Given the description of an element on the screen output the (x, y) to click on. 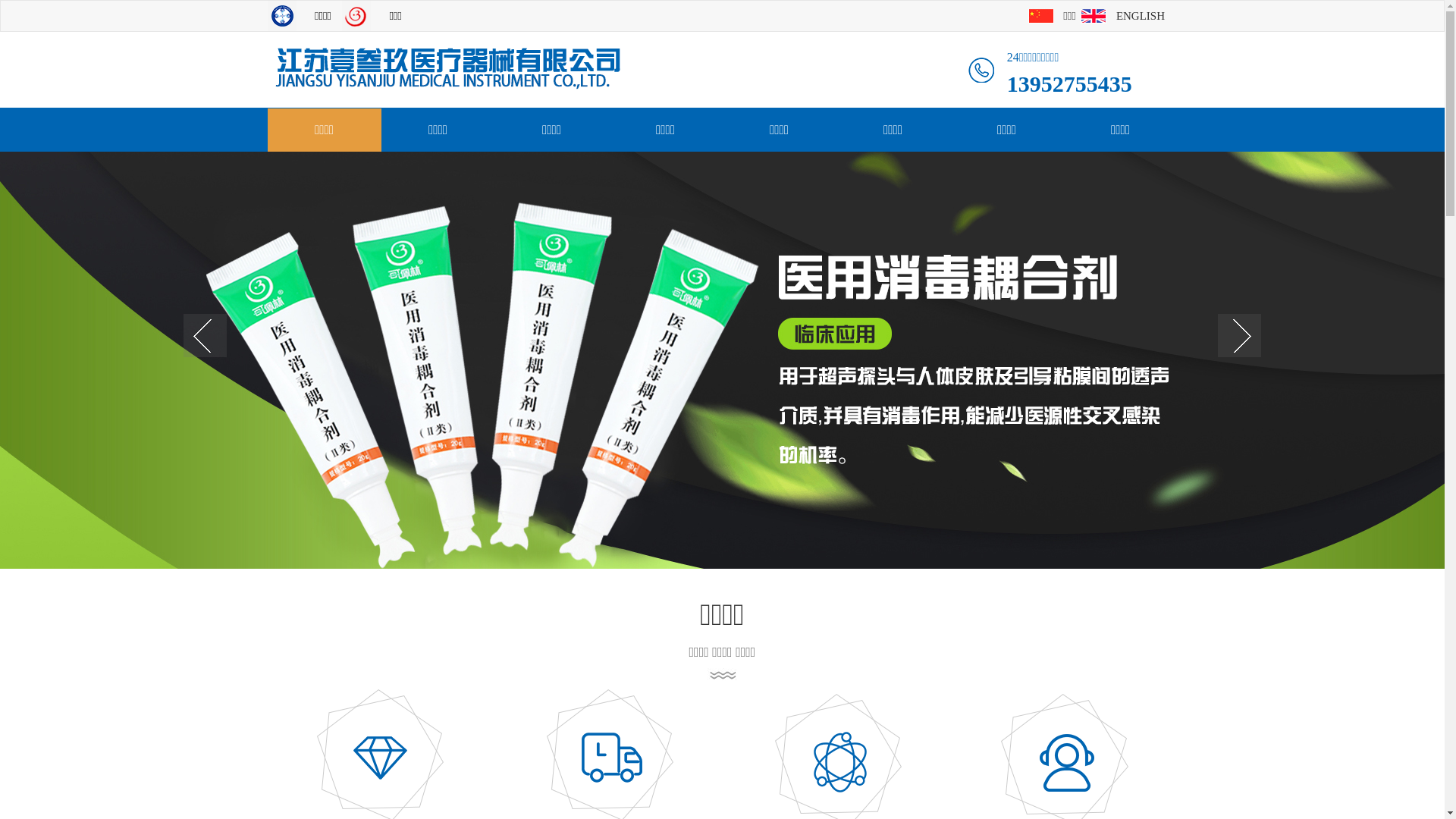
next Element type: text (1239, 336)
ENGLISH Element type: text (1140, 15)
prev Element type: text (204, 336)
